Given the description of an element on the screen output the (x, y) to click on. 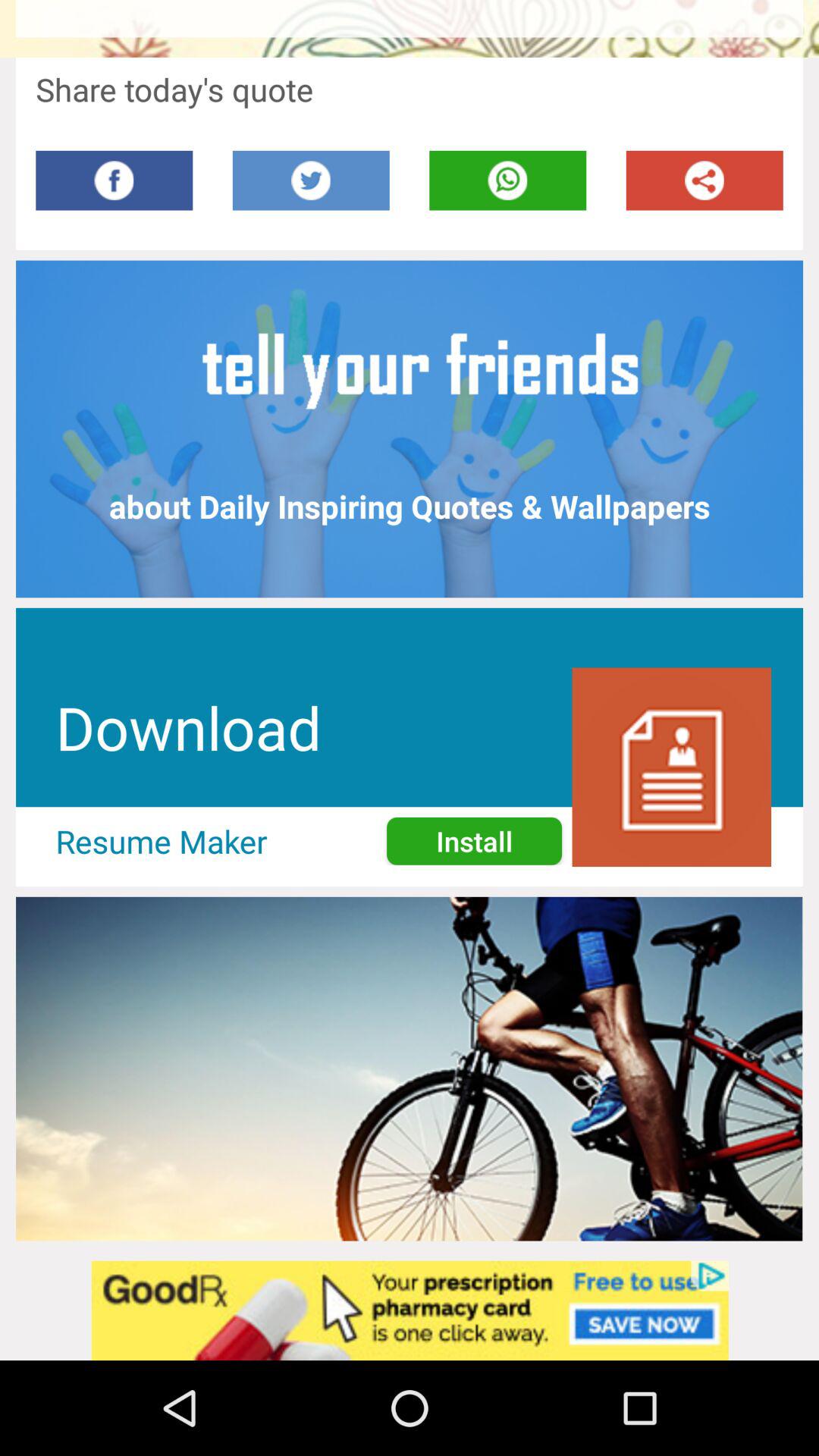
this button shares page on whatsapp (507, 180)
